Given the description of an element on the screen output the (x, y) to click on. 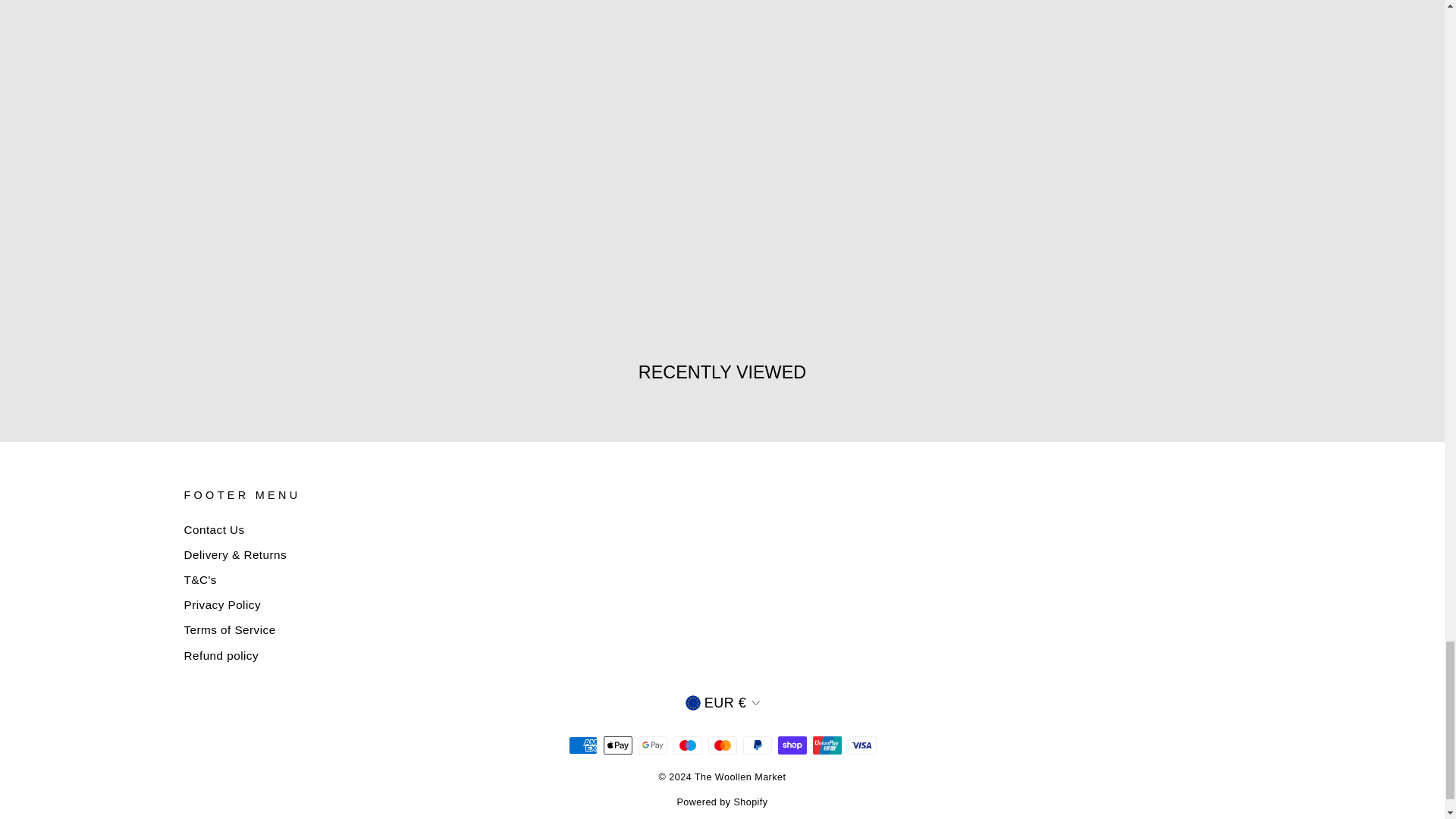
American Express (582, 745)
Apple Pay (617, 745)
